Given the description of an element on the screen output the (x, y) to click on. 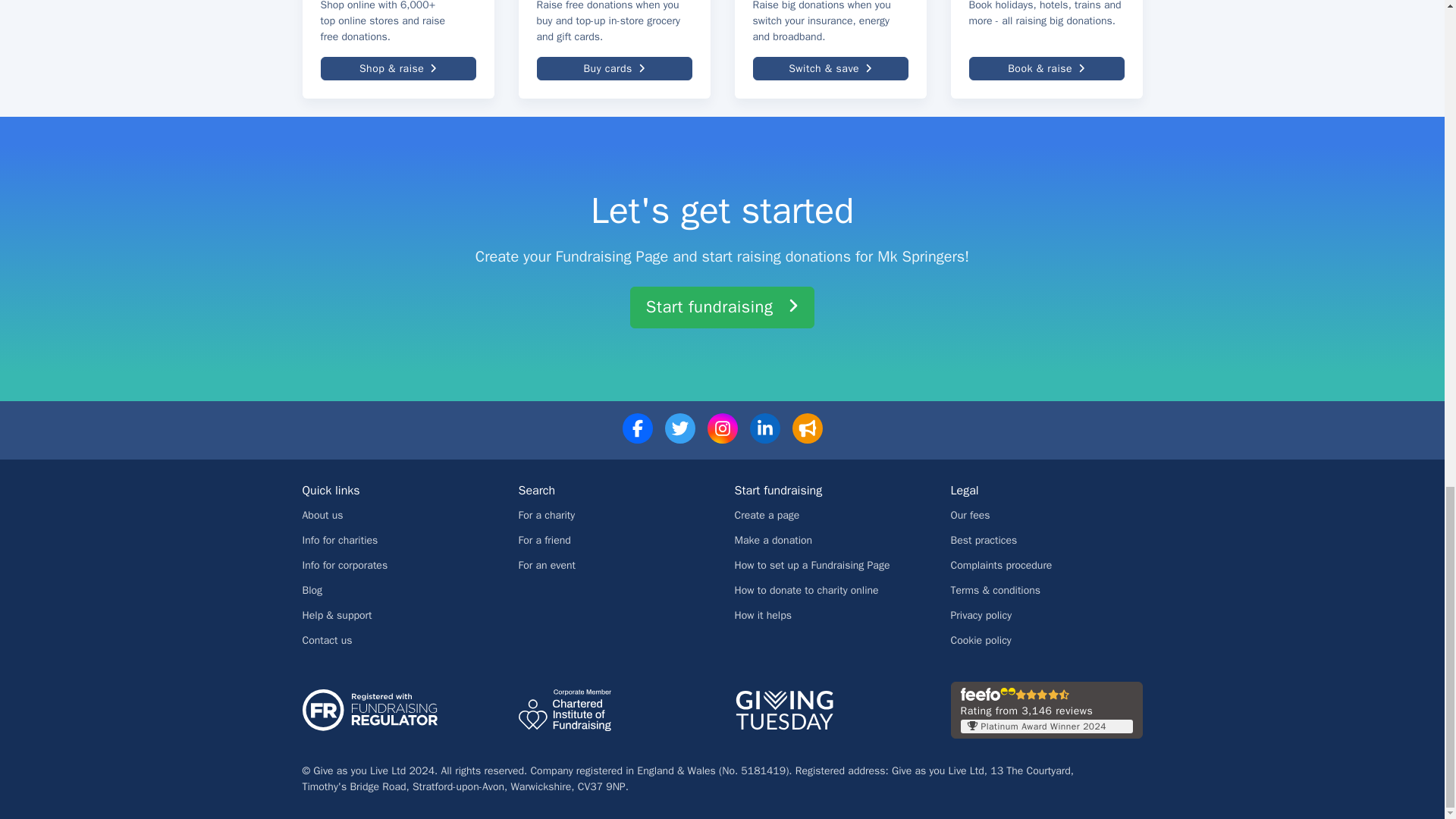
Buy cards (615, 68)
4.7 stars out of 5 (1041, 694)
